Given the description of an element on the screen output the (x, y) to click on. 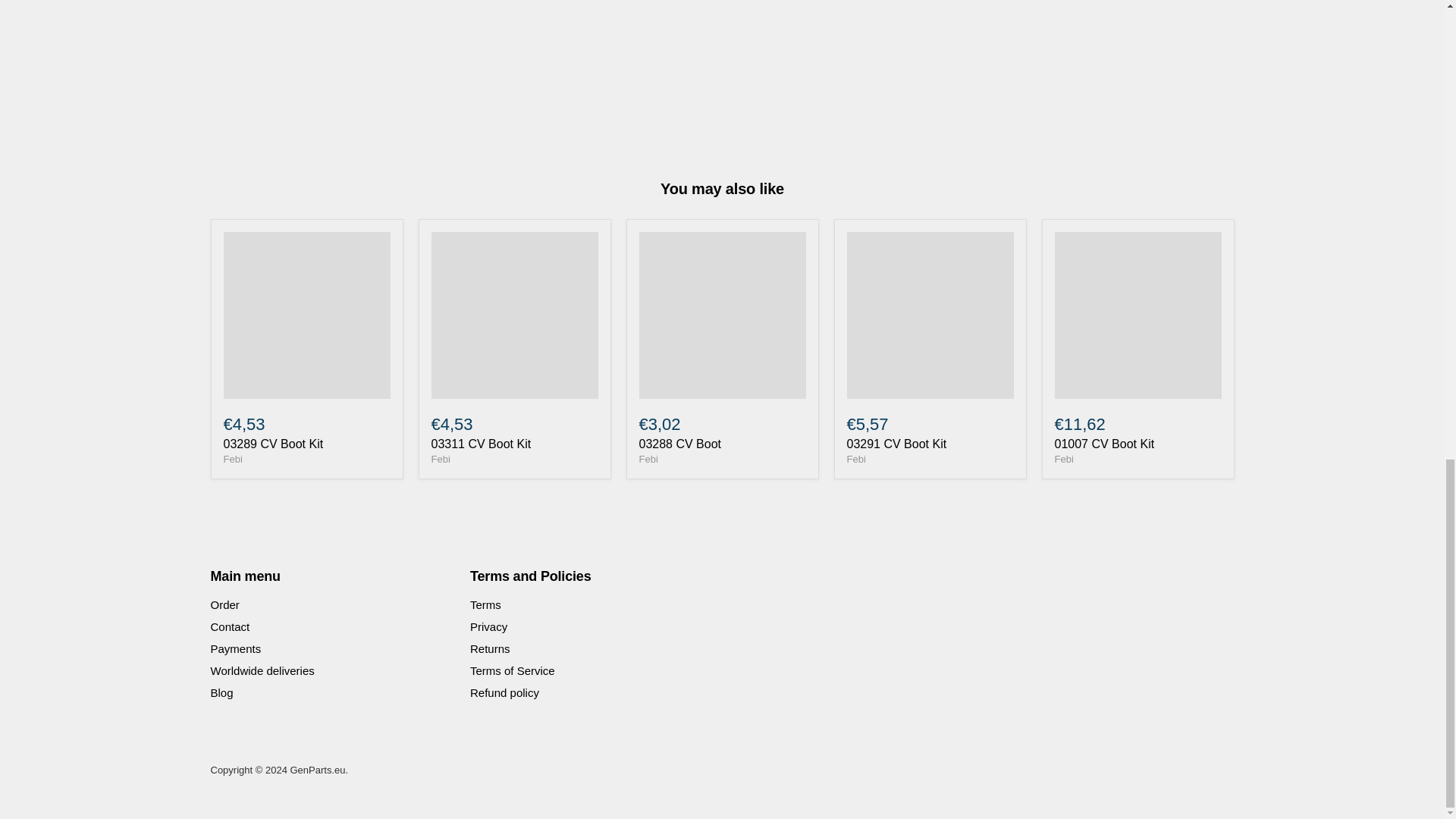
Febi (648, 459)
Febi (439, 459)
Febi (854, 459)
Febi (231, 459)
Febi (1063, 459)
